Given the description of an element on the screen output the (x, y) to click on. 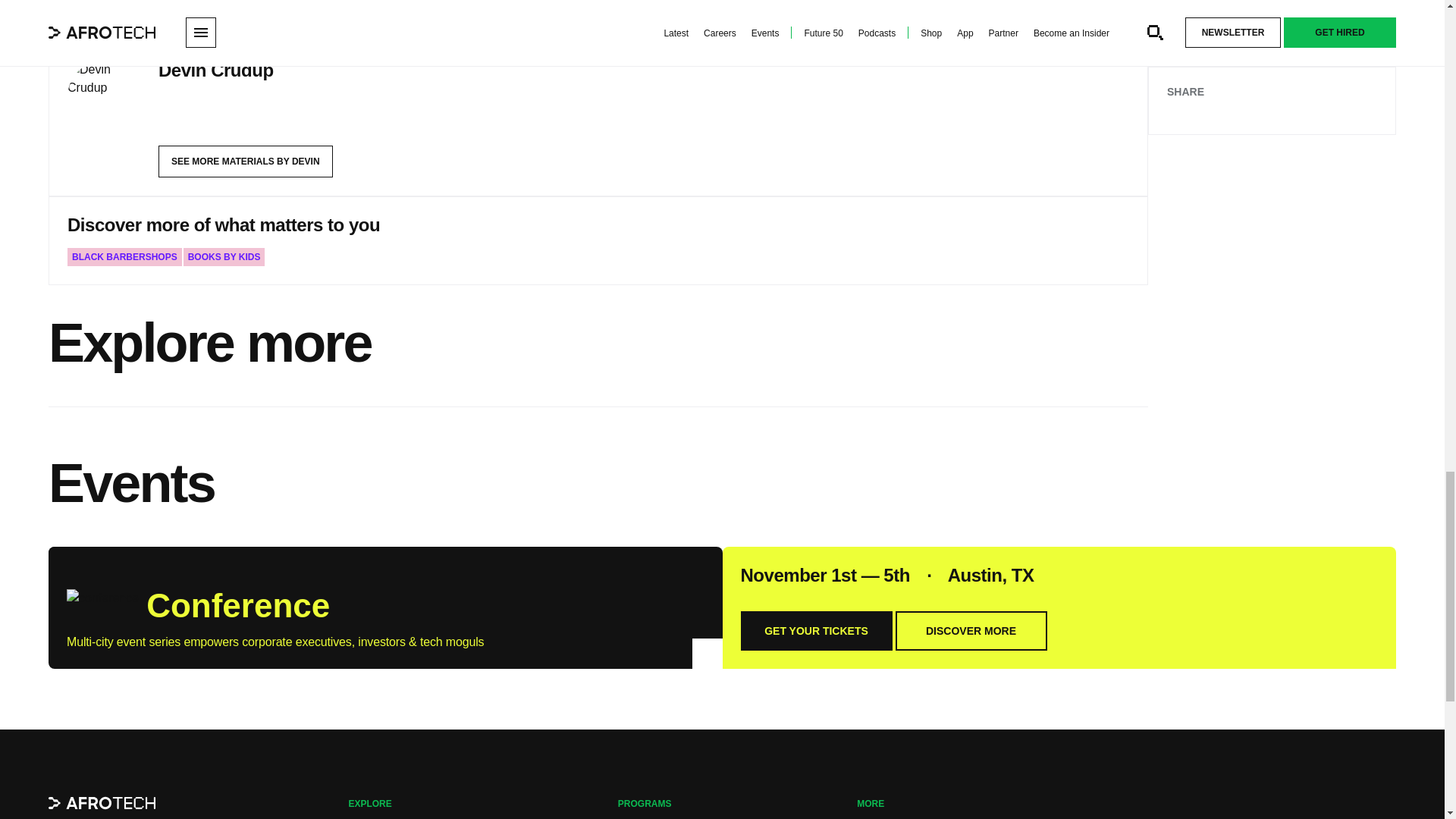
conference (102, 602)
GET YOUR TICKETS (815, 630)
DISCOVER MORE (970, 630)
BOOKS BY KIDS (223, 257)
SEE MORE MATERIALS BY DEVIN (245, 161)
Devin Crudup (215, 70)
BLACK BARBERSHOPS (124, 257)
Devin Crudup (102, 96)
